Given the description of an element on the screen output the (x, y) to click on. 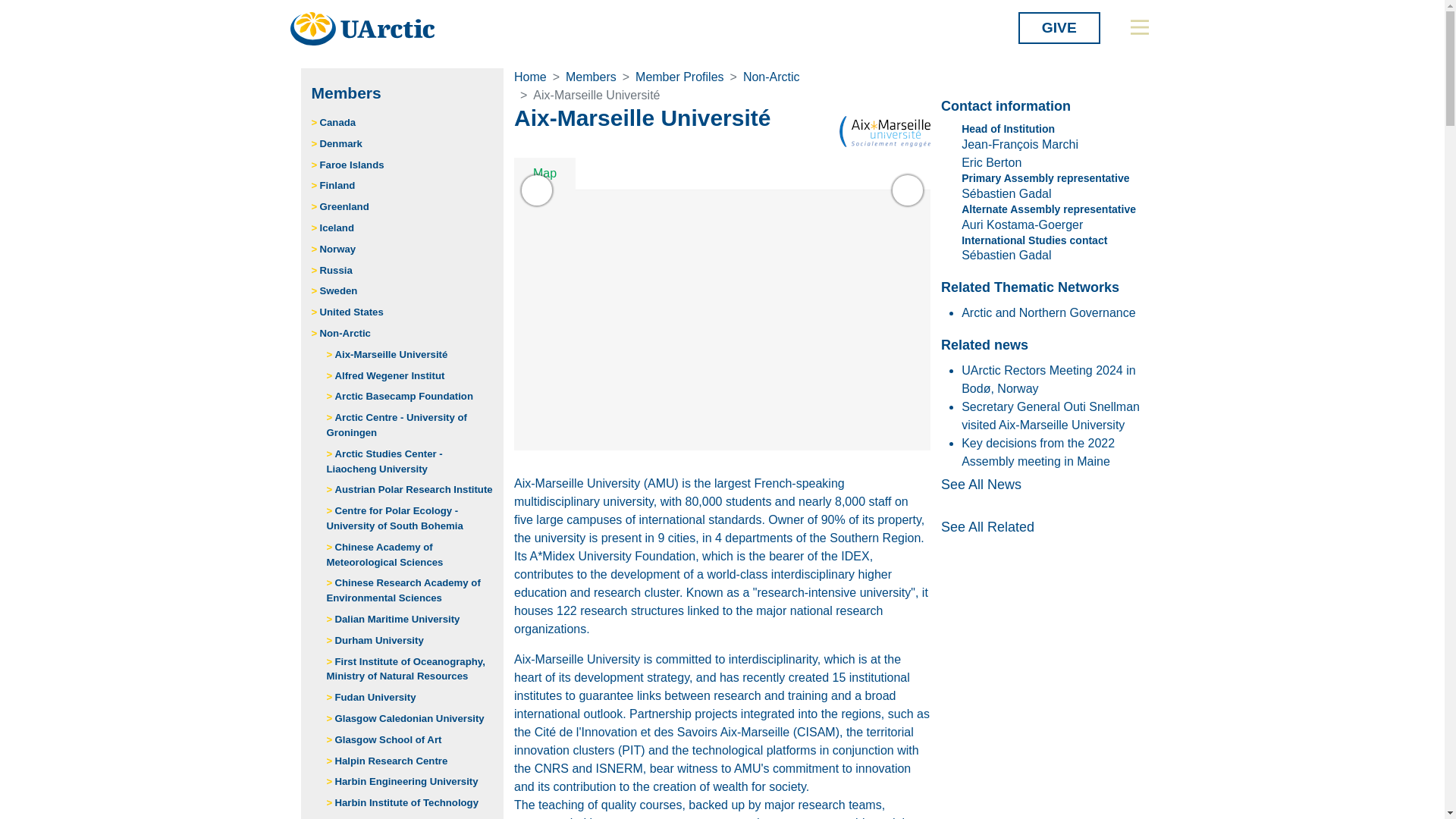
Key decisions from the 2022 Assembly meeting in Maine (1037, 451)
GIVE (1058, 28)
Arctic and Northern Governance (1047, 312)
